Given the description of an element on the screen output the (x, y) to click on. 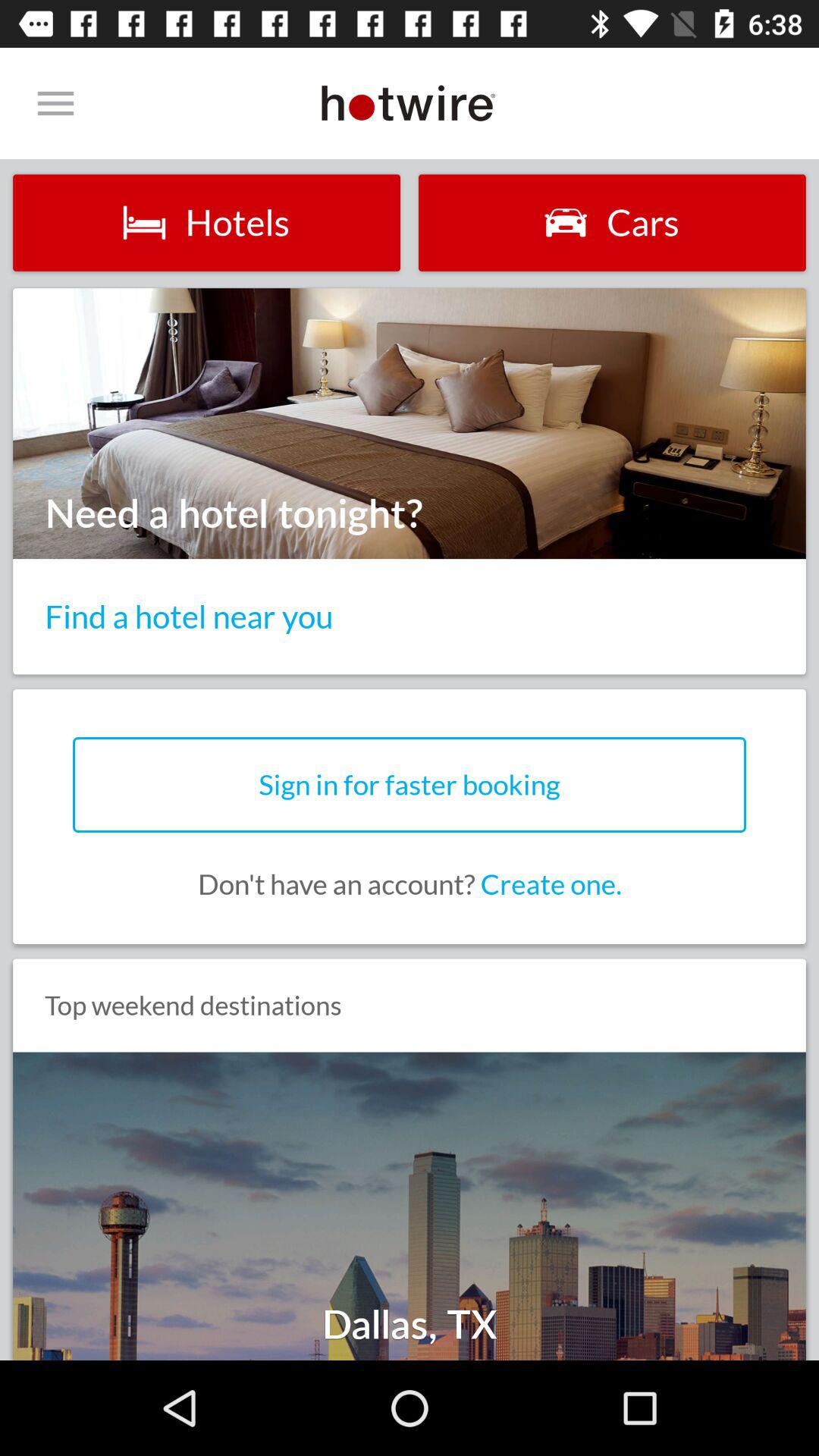
swipe to the sign in for item (409, 784)
